Given the description of an element on the screen output the (x, y) to click on. 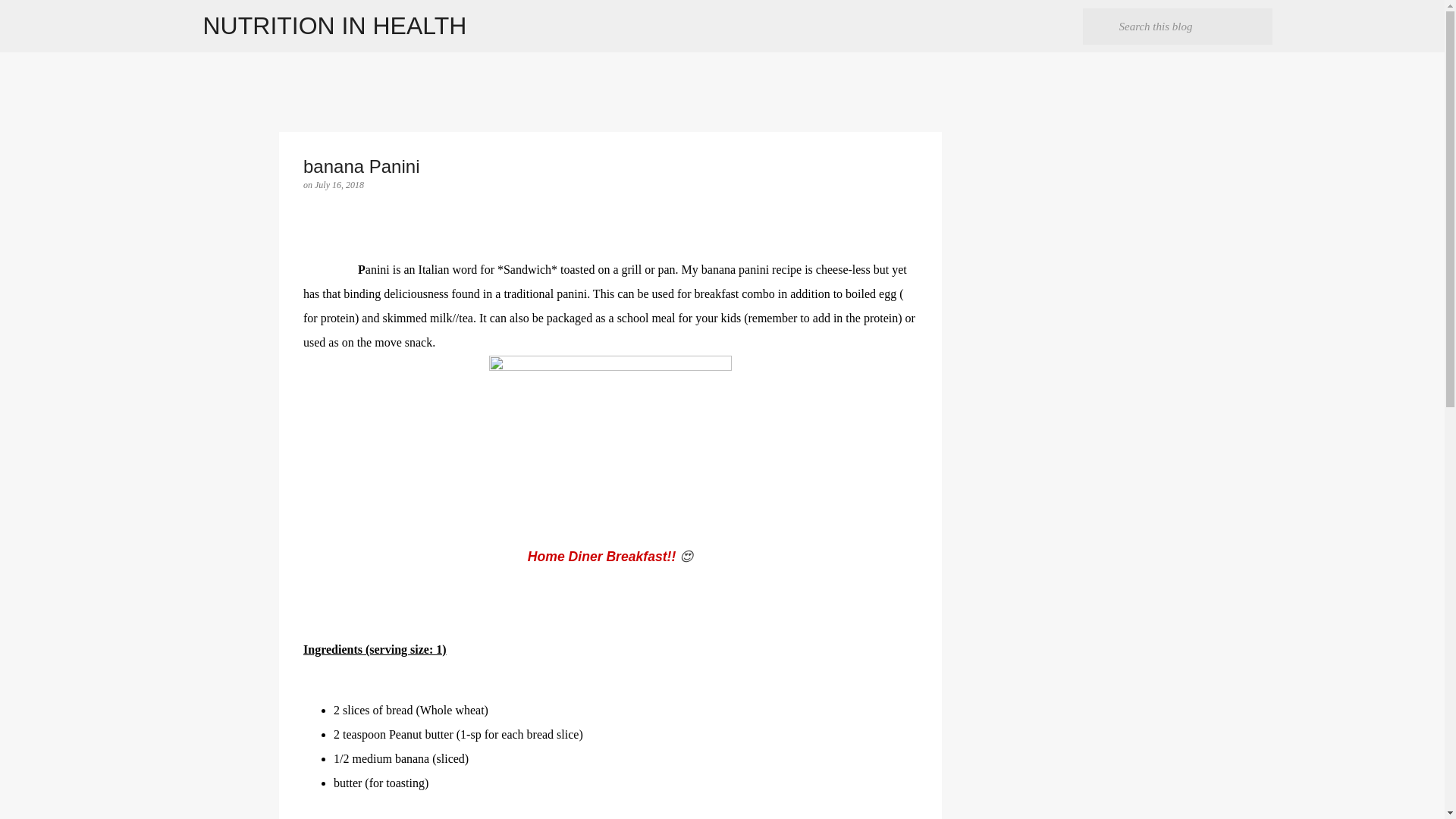
permanent link (339, 184)
NUTRITION IN HEALTH (335, 25)
July 16, 2018 (339, 184)
